Given the description of an element on the screen output the (x, y) to click on. 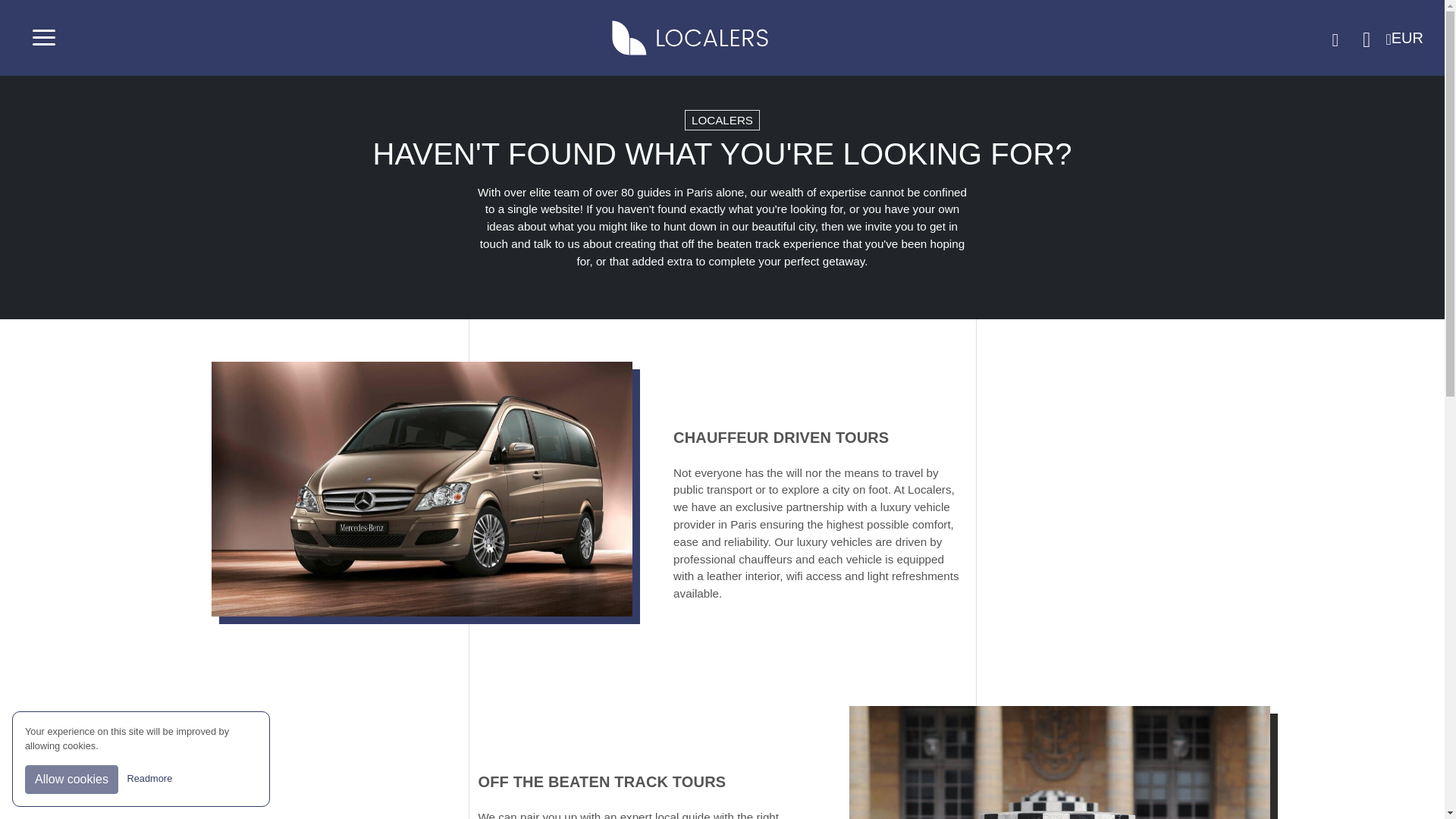
Allow cookies (70, 778)
Readmore (150, 778)
EUR (1408, 37)
